Given the description of an element on the screen output the (x, y) to click on. 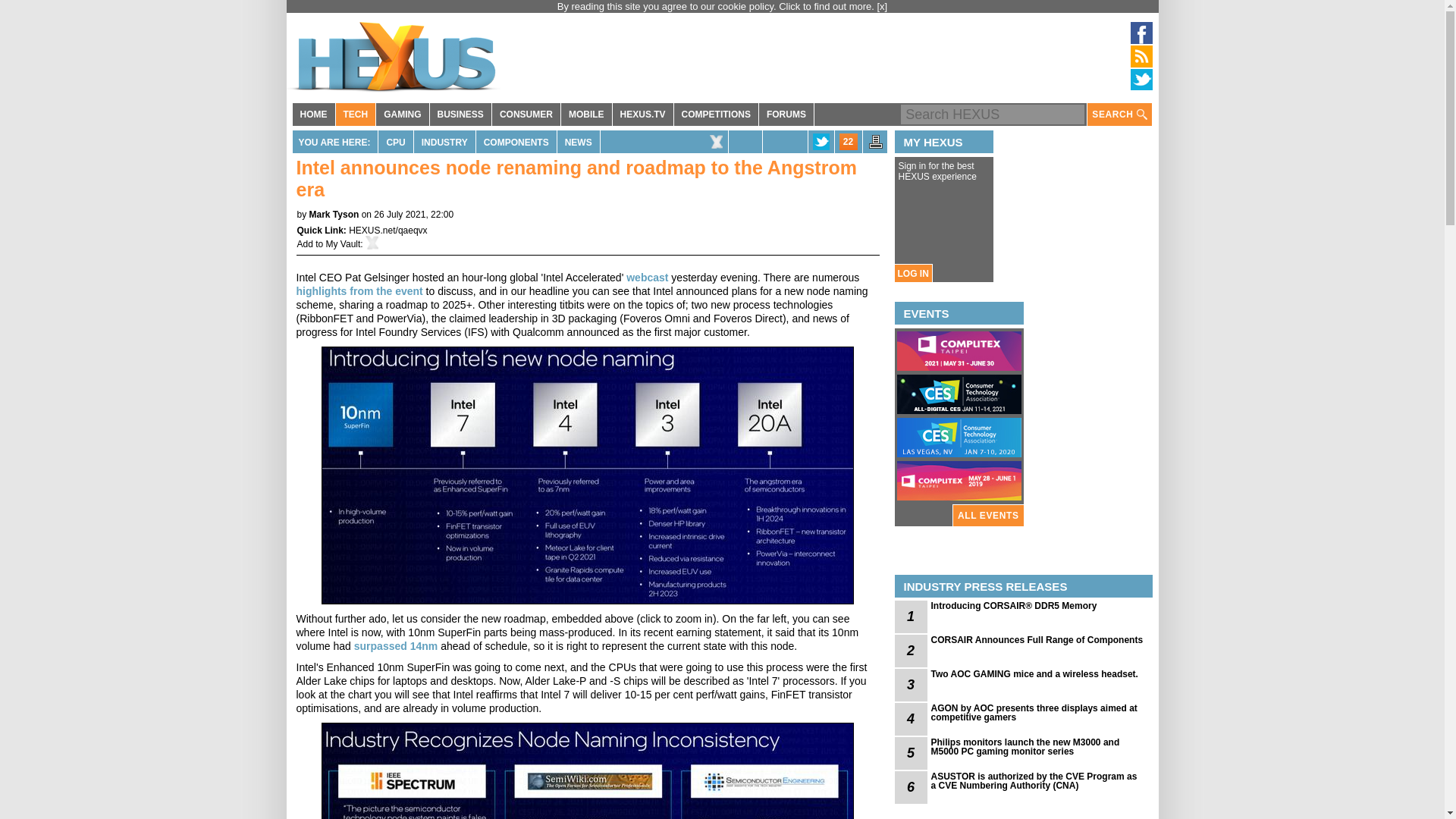
MOBILE (585, 114)
Mark Tyson (333, 214)
surpassed 14nm (395, 645)
 Search HEXUS (992, 114)
SEARCH (1118, 114)
Printer Friendly Layout (875, 146)
CPU (395, 141)
HOME (313, 114)
INDUSTRY (444, 141)
Discuss in the HEXUS Forums (847, 141)
22 (847, 141)
FORUMS (785, 114)
TECH (354, 114)
CONSUMER (526, 114)
